Given the description of an element on the screen output the (x, y) to click on. 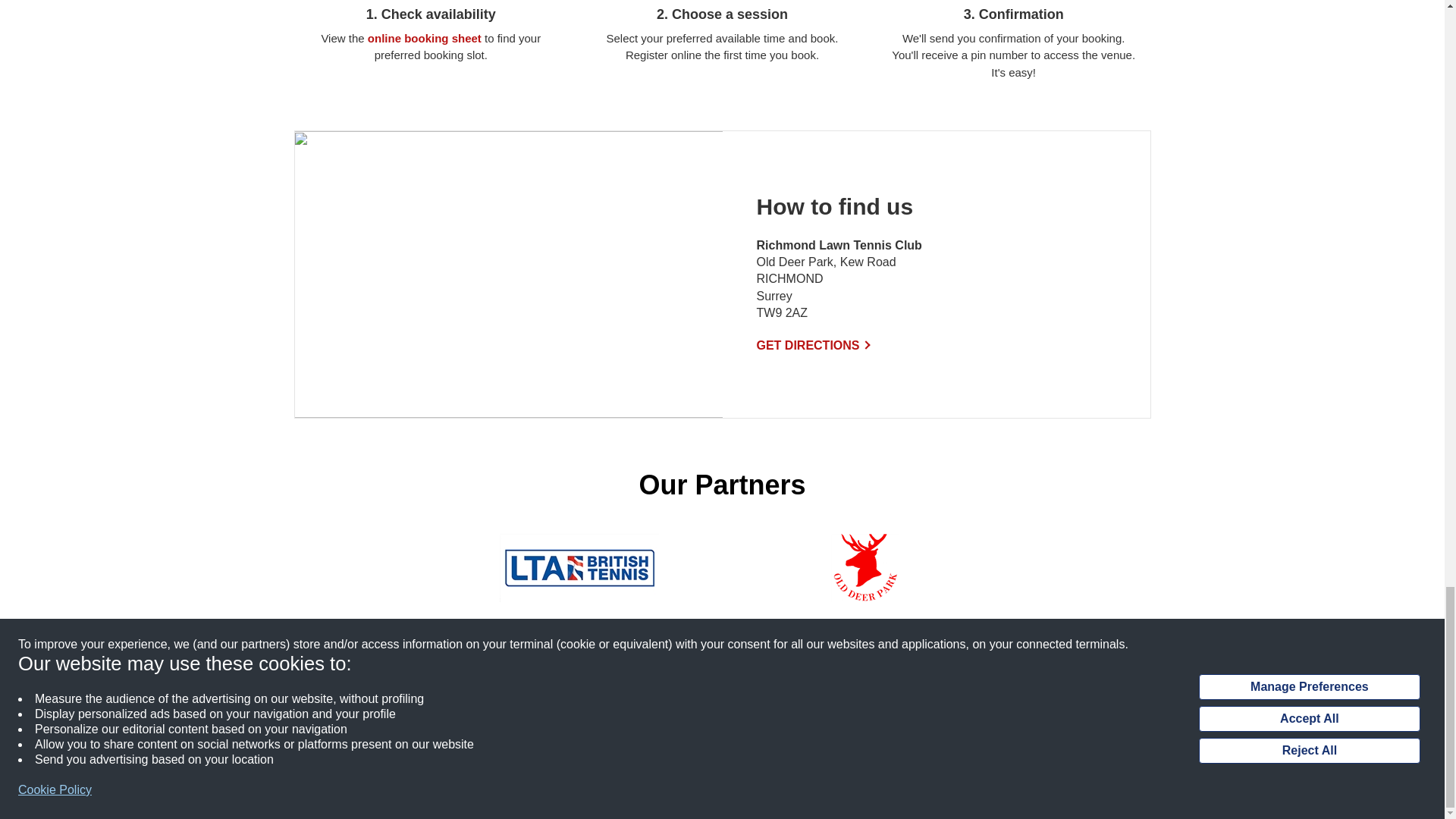
LTA Tennis (579, 567)
The Old Deer Park (865, 567)
